Given the description of an element on the screen output the (x, y) to click on. 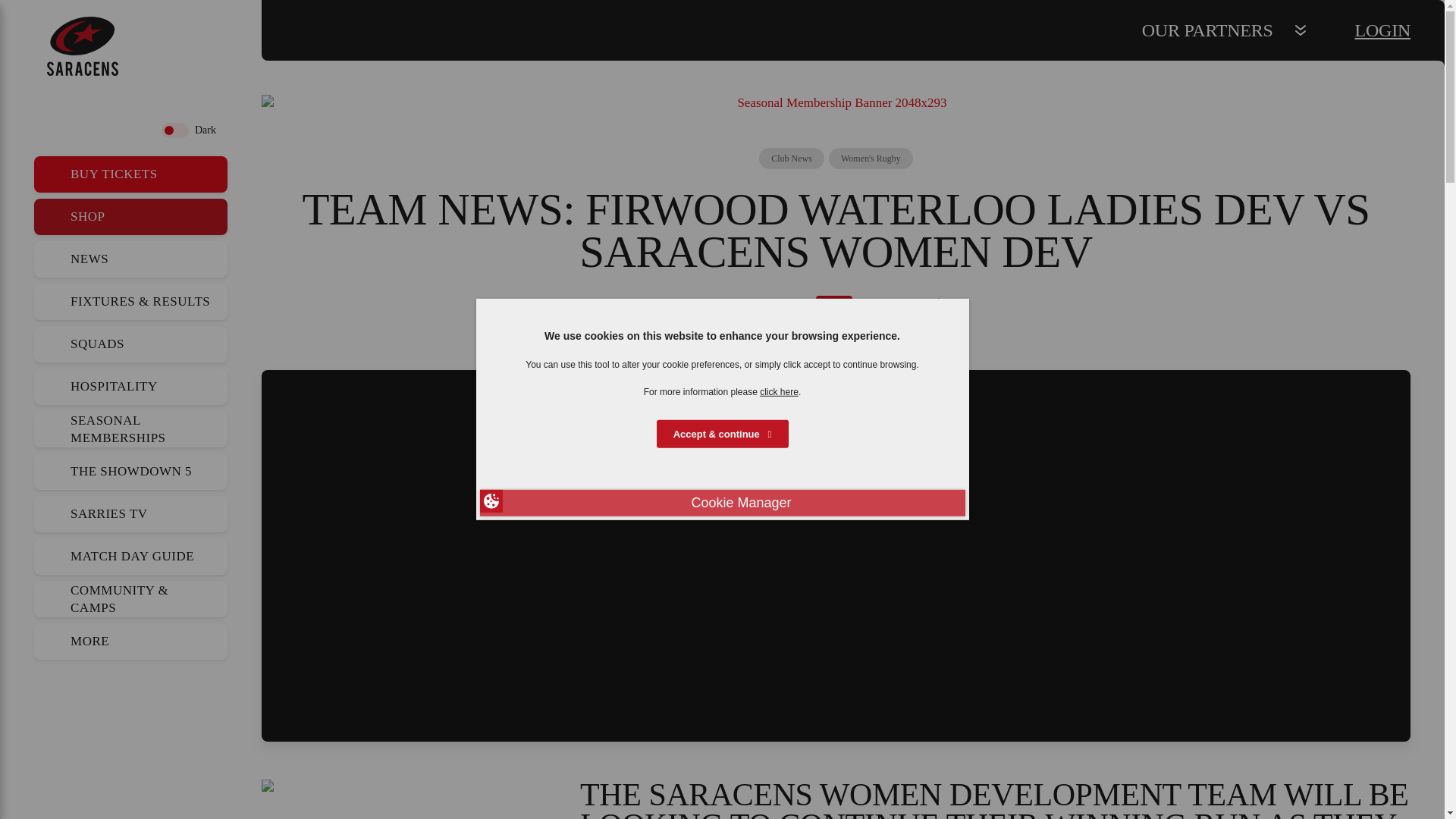
MATCH DAY GUIDE (130, 556)
THE SHOWDOWN 5 (130, 471)
Search (55, 130)
HOSPITALITY (130, 386)
MORE (130, 641)
LOGIN (1382, 29)
NEWS (130, 258)
SHOP (130, 217)
SQUADS (130, 343)
SEASONAL MEMBERSHIPS (130, 429)
Cookie Manager (721, 502)
BUY TICKETS (130, 174)
SARRIES TV (130, 514)
